Given the description of an element on the screen output the (x, y) to click on. 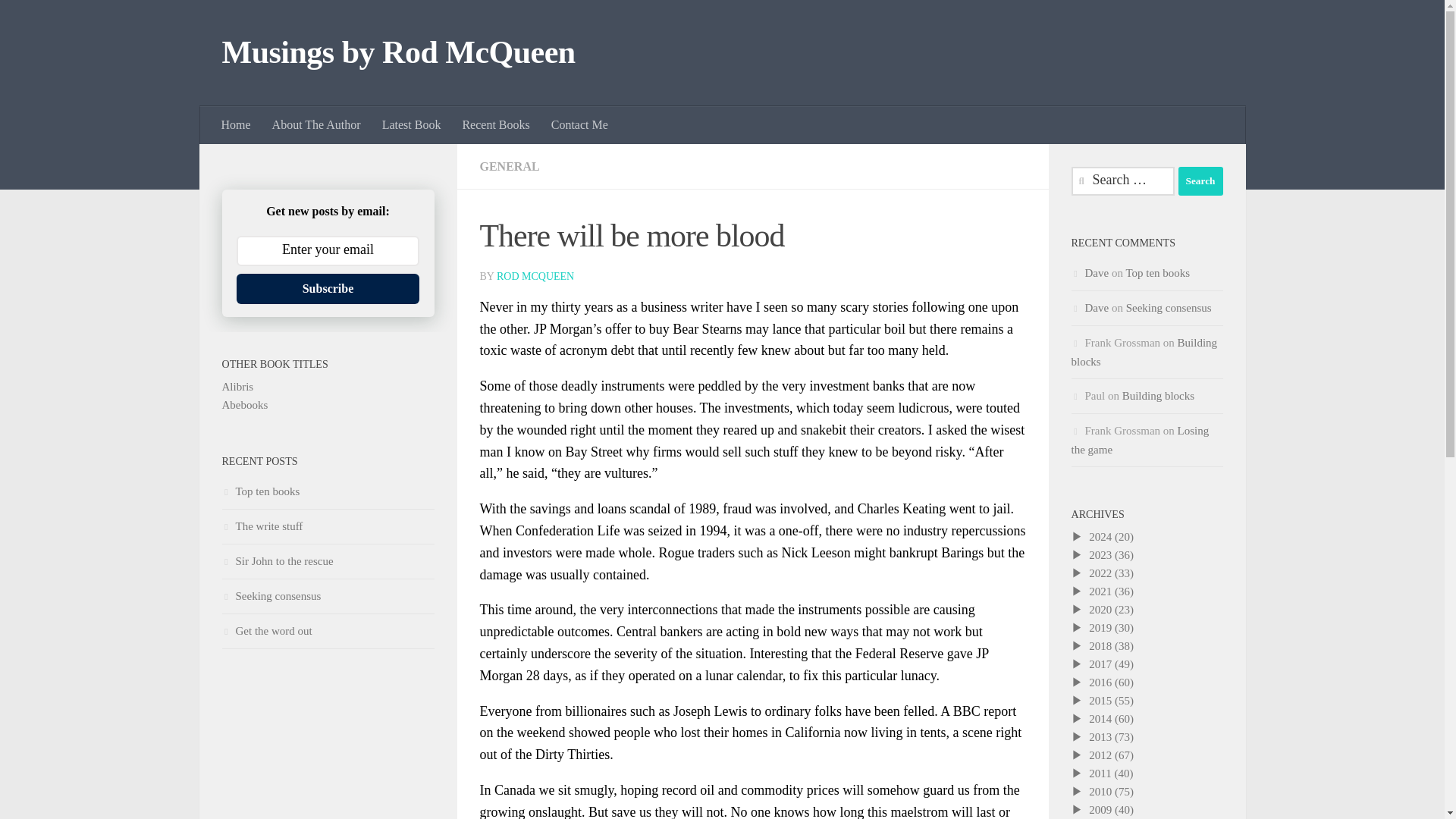
Building blocks (1157, 395)
Musings by Rod McQueen (398, 53)
Building blocks (1143, 351)
Dave (1096, 307)
Dave (1096, 272)
Skip to content (59, 20)
Contact Me (579, 125)
2024 (1100, 536)
Losing the game (1139, 440)
Posts by Rod McQueen (534, 276)
Top ten books (1157, 272)
Search (1200, 181)
Alibris (237, 386)
Sir John to the rescue (277, 561)
About The Author (316, 125)
